Given the description of an element on the screen output the (x, y) to click on. 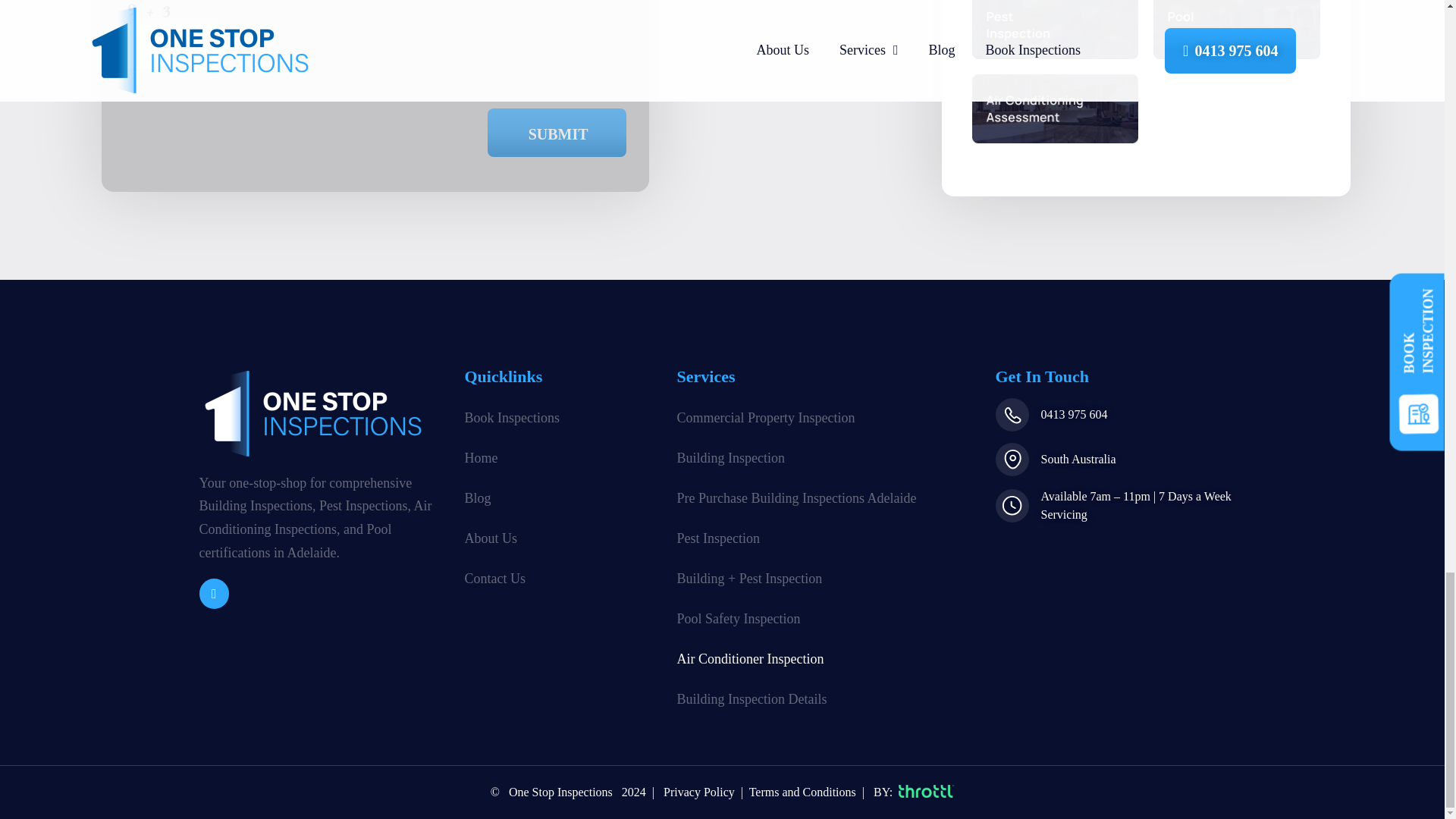
Submit (556, 132)
